Given the description of an element on the screen output the (x, y) to click on. 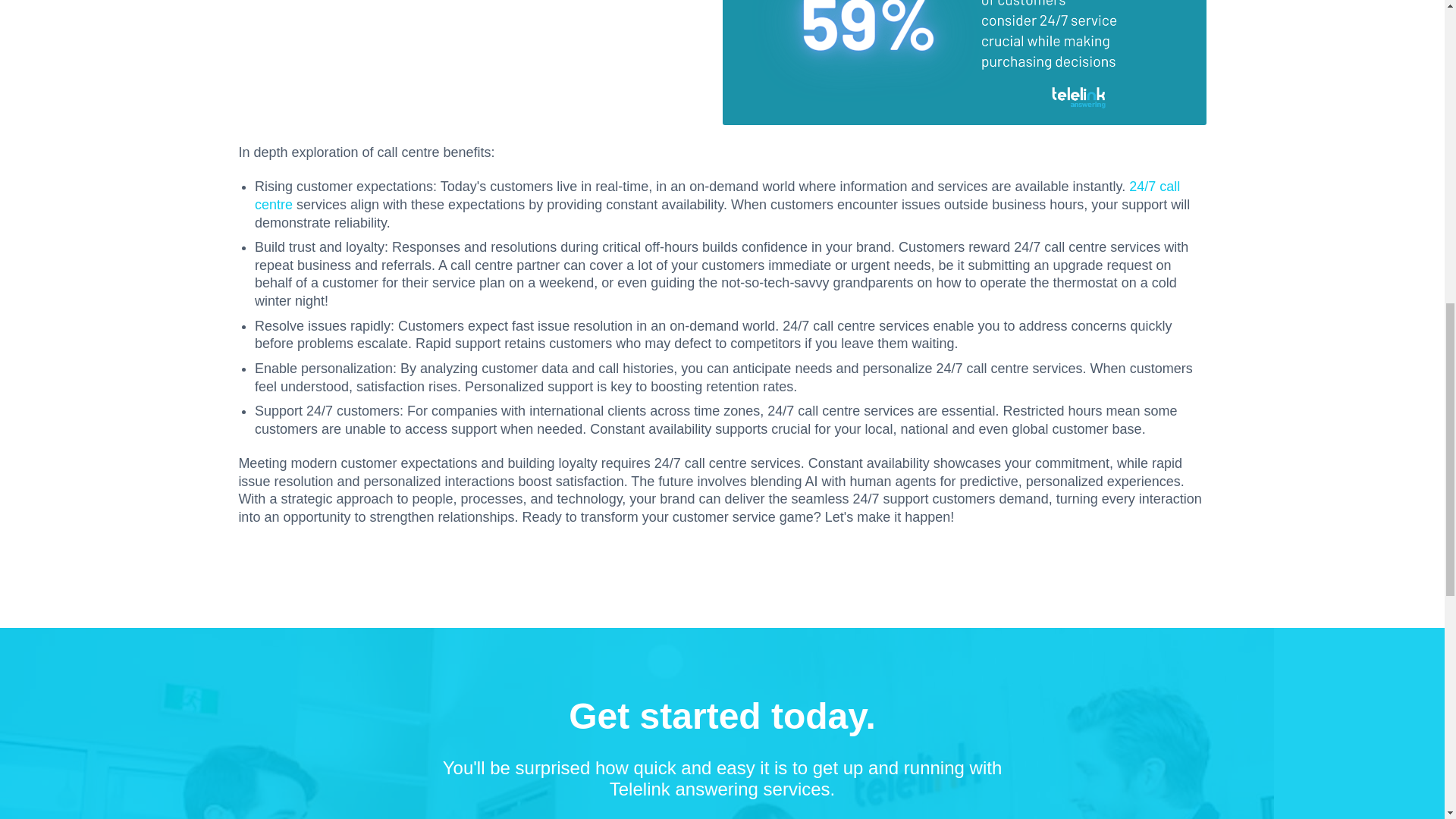
Call centre services (716, 195)
